Given the description of an element on the screen output the (x, y) to click on. 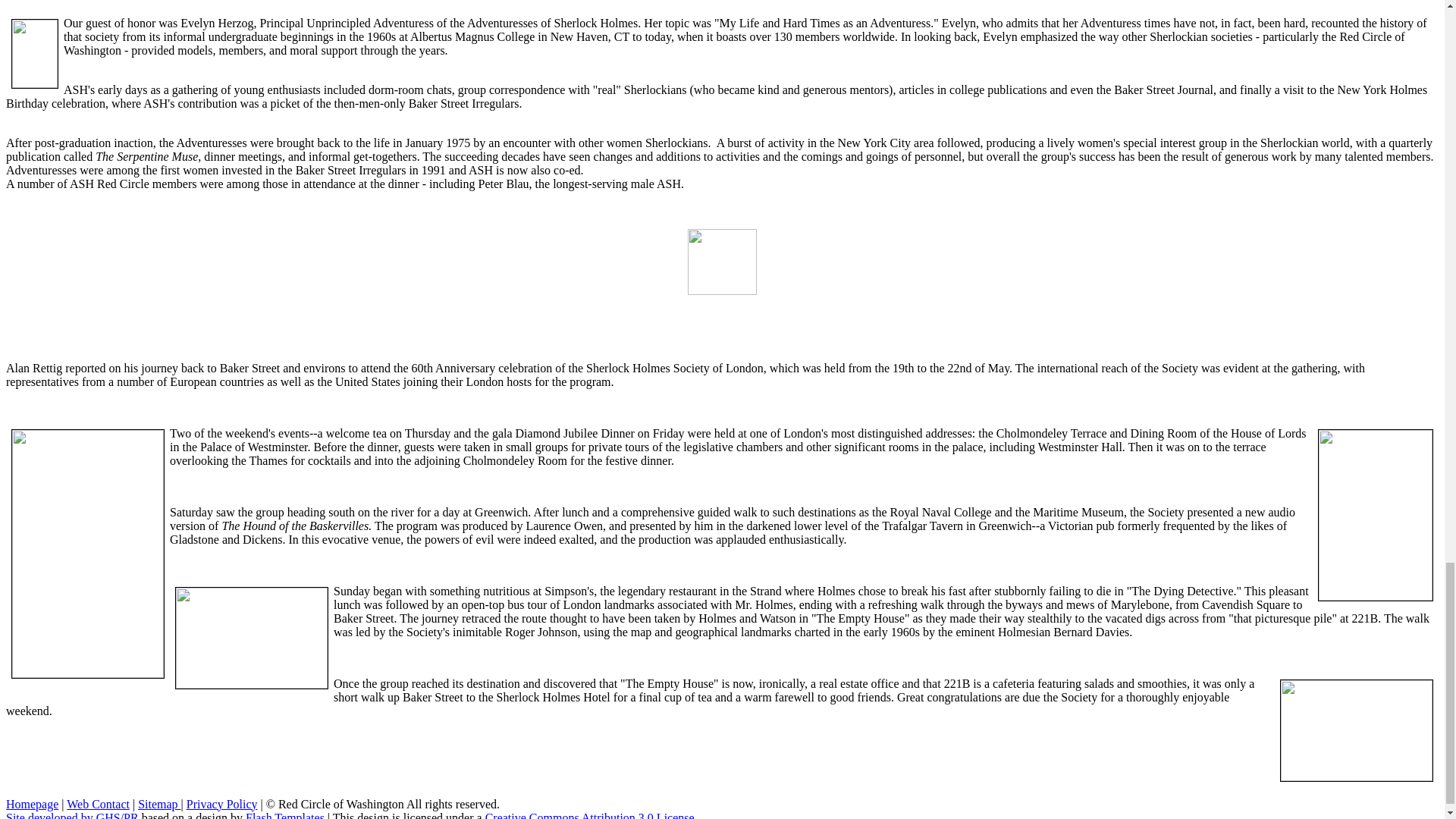
Sitemap (159, 803)
Privacy Policy (221, 803)
Homepage (31, 803)
Web Contact (97, 803)
